Given the description of an element on the screen output the (x, y) to click on. 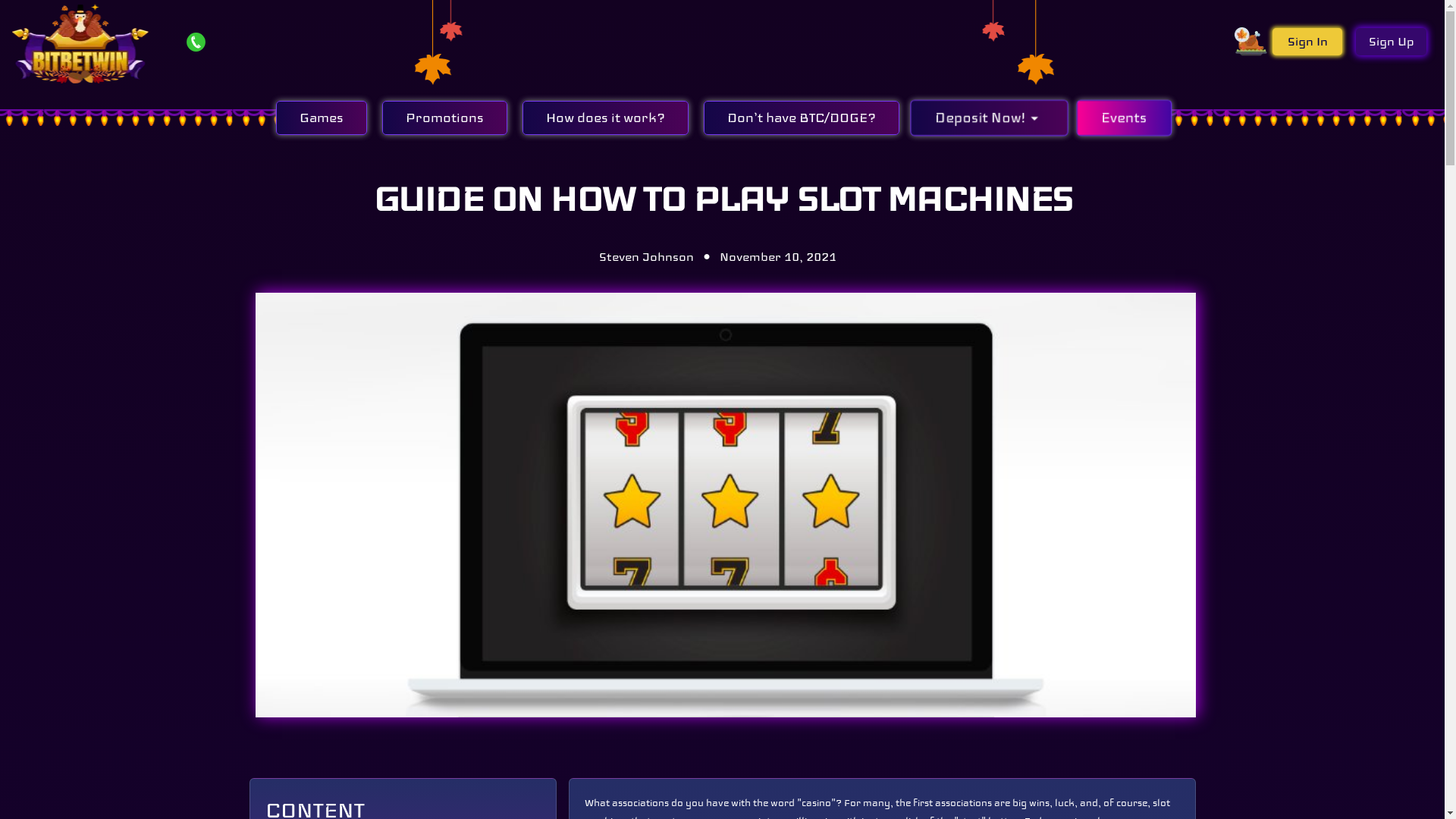
Sign Up Element type: text (1390, 41)
Events Element type: text (1119, 115)
Sign In Element type: text (1307, 41)
How does it work? Element type: text (604, 117)
Games Element type: text (321, 117)
Deposit Now! Element type: text (981, 115)
Promotions Element type: text (444, 117)
